Given the description of an element on the screen output the (x, y) to click on. 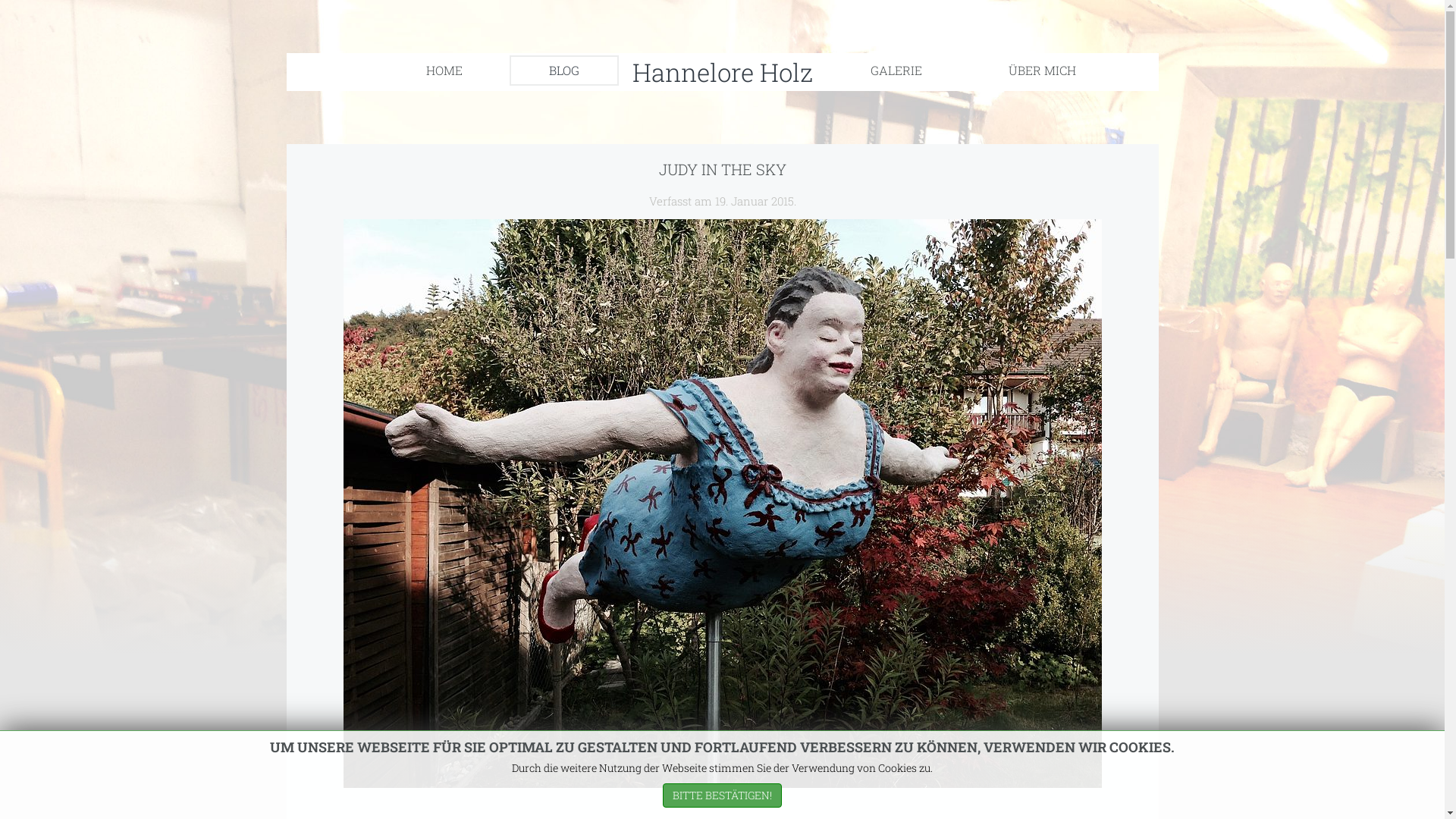
Hannelore Holz Element type: text (722, 73)
HOME Element type: text (444, 69)
JUDY IN THE SKY Element type: text (721, 168)
GALERIE Element type: text (896, 69)
BLOG Element type: text (563, 69)
